Given the description of an element on the screen output the (x, y) to click on. 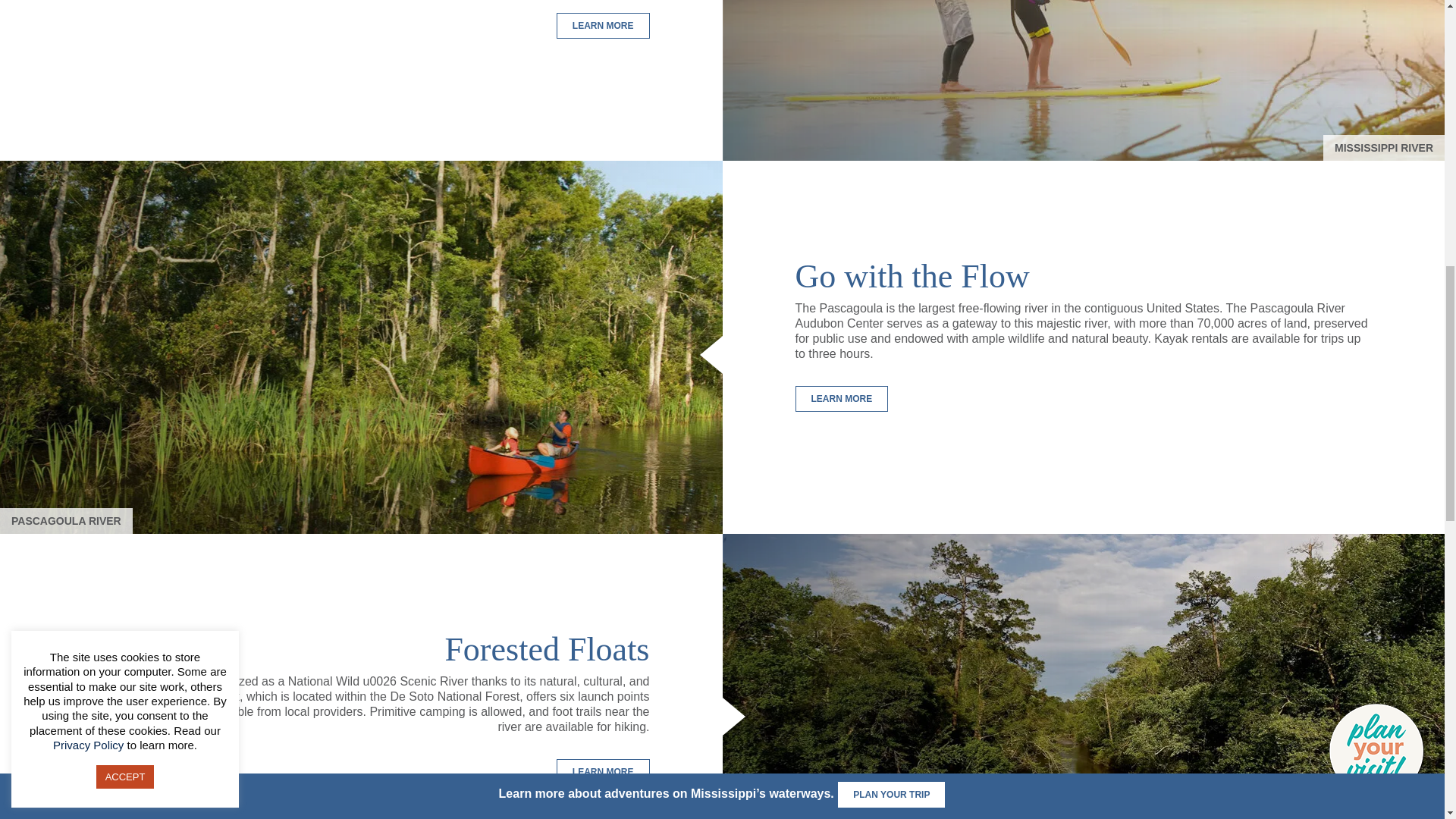
LEARN MORE (602, 771)
LEARN MORE (841, 398)
LEARN MORE (602, 25)
